Given the description of an element on the screen output the (x, y) to click on. 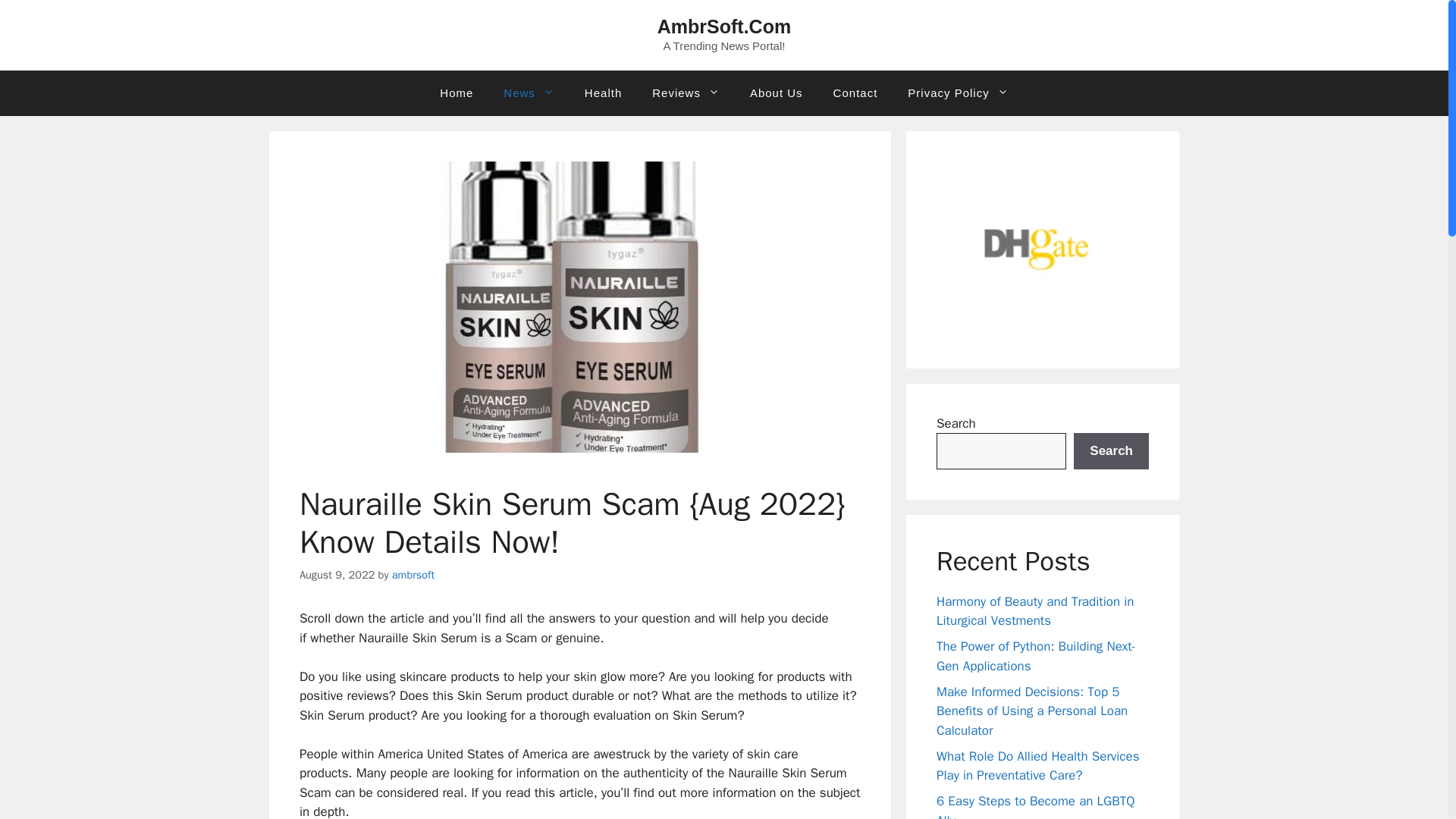
Search (1111, 451)
Health (603, 92)
About Us (776, 92)
Privacy Policy (957, 92)
AmbrSoft.Com (724, 25)
View all posts by ambrsoft (412, 573)
Contact (855, 92)
Harmony of Beauty and Tradition in Liturgical Vestments (1035, 611)
6 Easy Steps to Become an LGBTQ Ally (1035, 806)
News (528, 92)
Home (456, 92)
ambrsoft (412, 573)
The Power of Python: Building Next-Gen Applications (1035, 656)
